Given the description of an element on the screen output the (x, y) to click on. 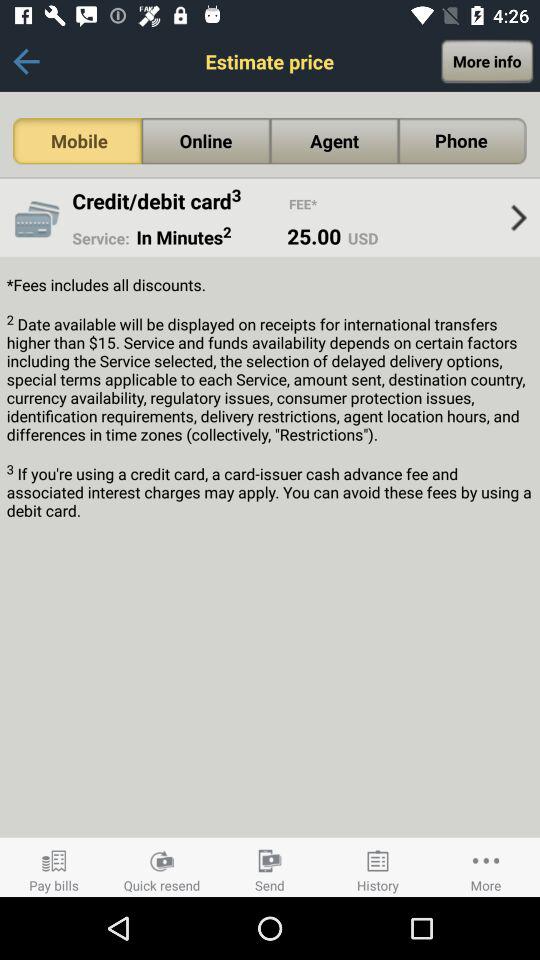
click on the online option (206, 141)
click on the icon just left to estimate price (26, 61)
select more (486, 867)
